Given the description of an element on the screen output the (x, y) to click on. 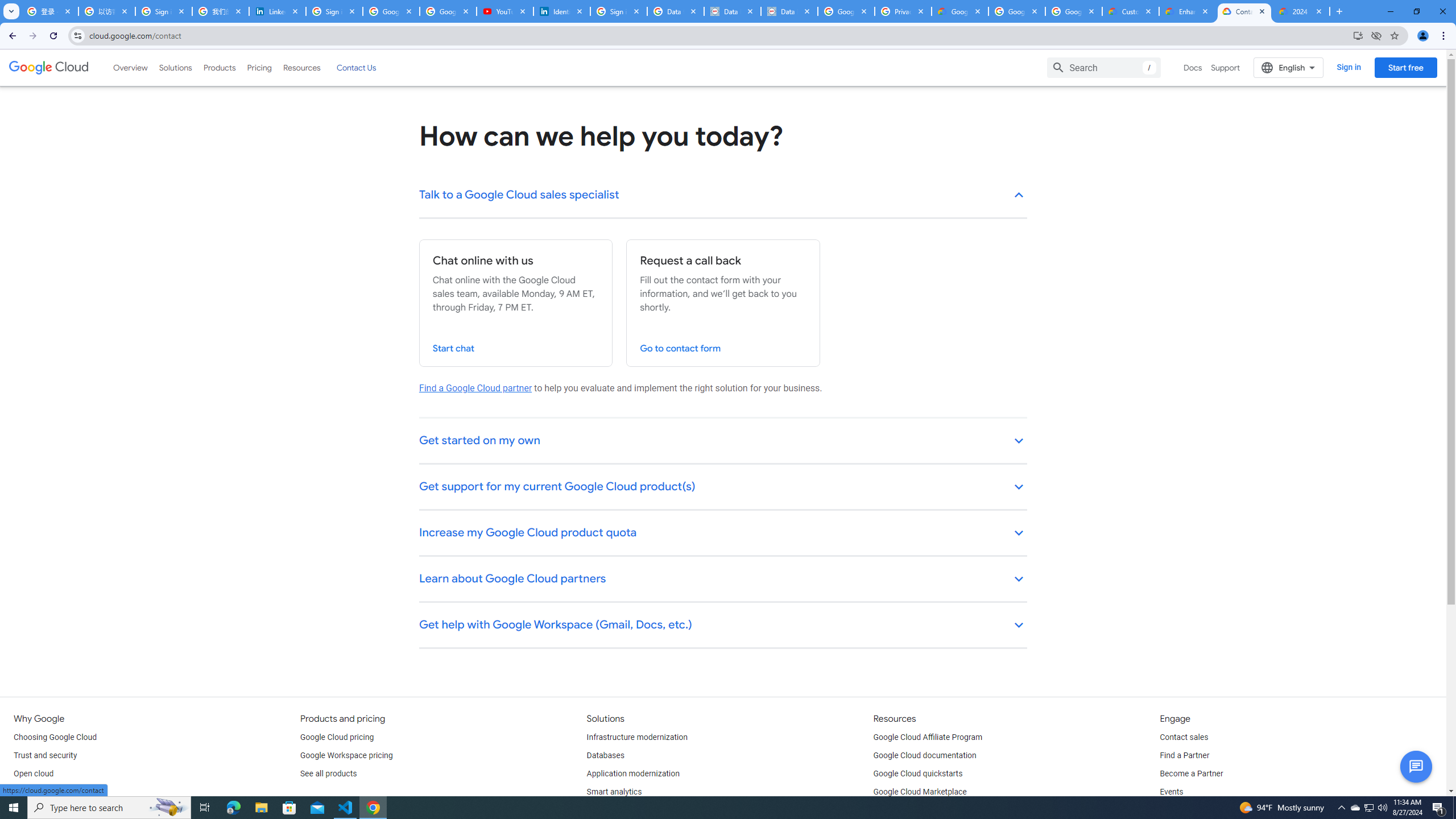
Choosing Google Cloud (55, 737)
Talk to a Google Cloud sales specialist keyboard_arrow_up (723, 195)
See all products (327, 773)
Address and search bar (717, 35)
Sign in - Google Accounts (163, 11)
Application modernization (632, 773)
Restore (1416, 11)
Multicloud (31, 791)
Increase my Google Cloud product quota keyboard_arrow_down (723, 533)
